Given the description of an element on the screen output the (x, y) to click on. 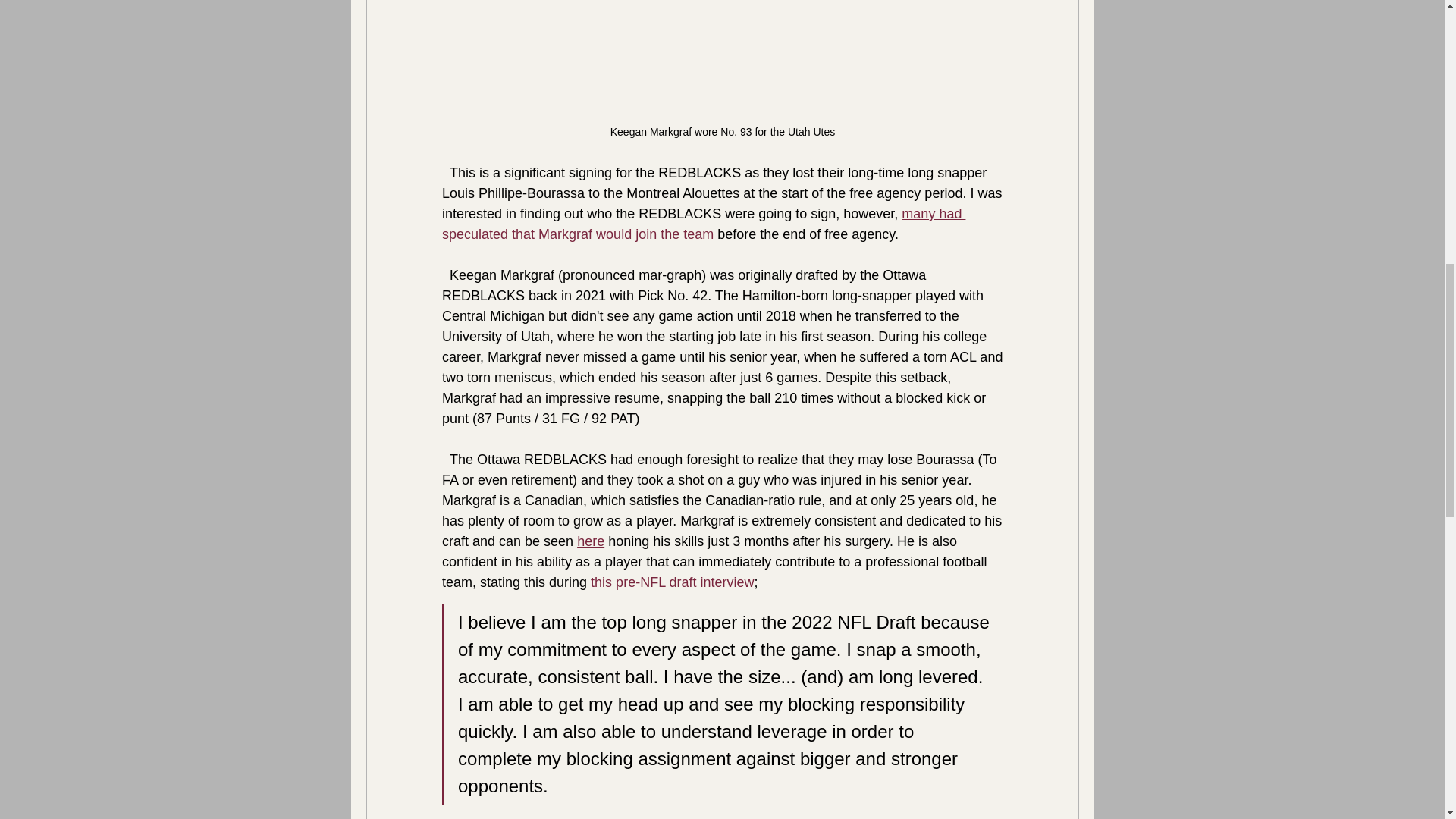
this pre-NFL draft interview (672, 581)
here (590, 540)
many had speculated that Markgraf would join the team (702, 223)
